Given the description of an element on the screen output the (x, y) to click on. 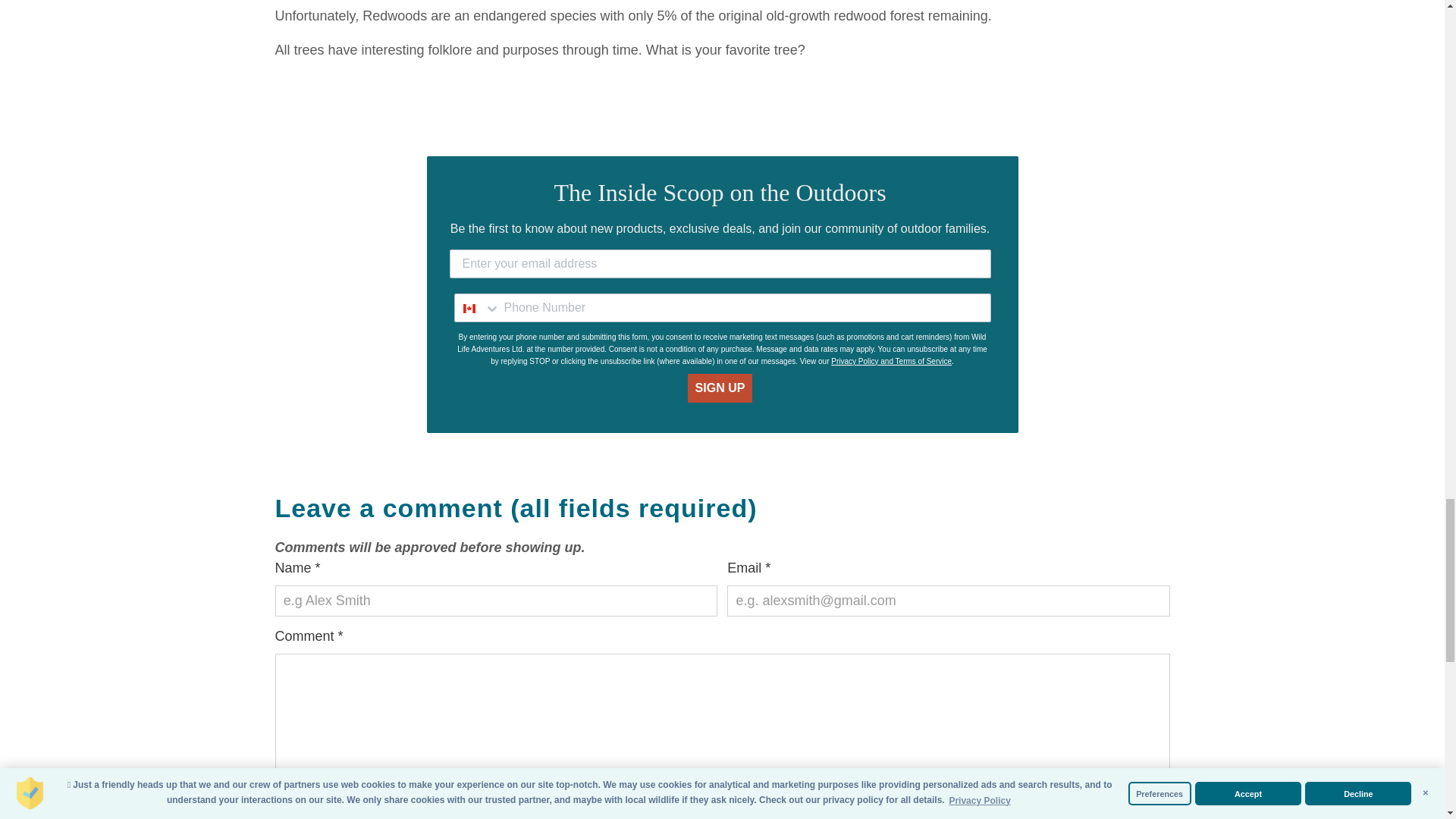
Canada (468, 308)
Submit (315, 799)
